Given the description of an element on the screen output the (x, y) to click on. 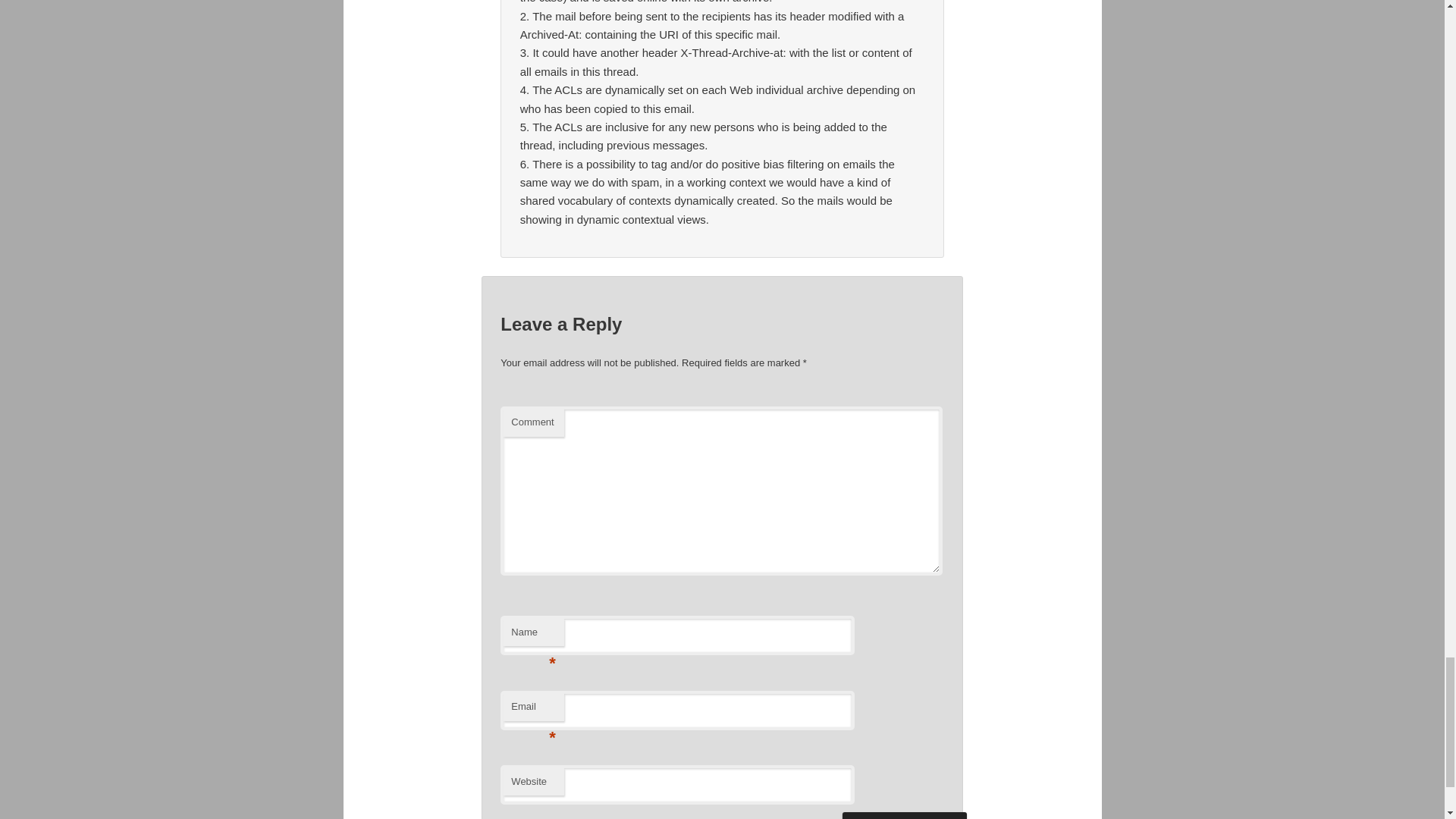
Post Comment (904, 815)
